Given the description of an element on the screen output the (x, y) to click on. 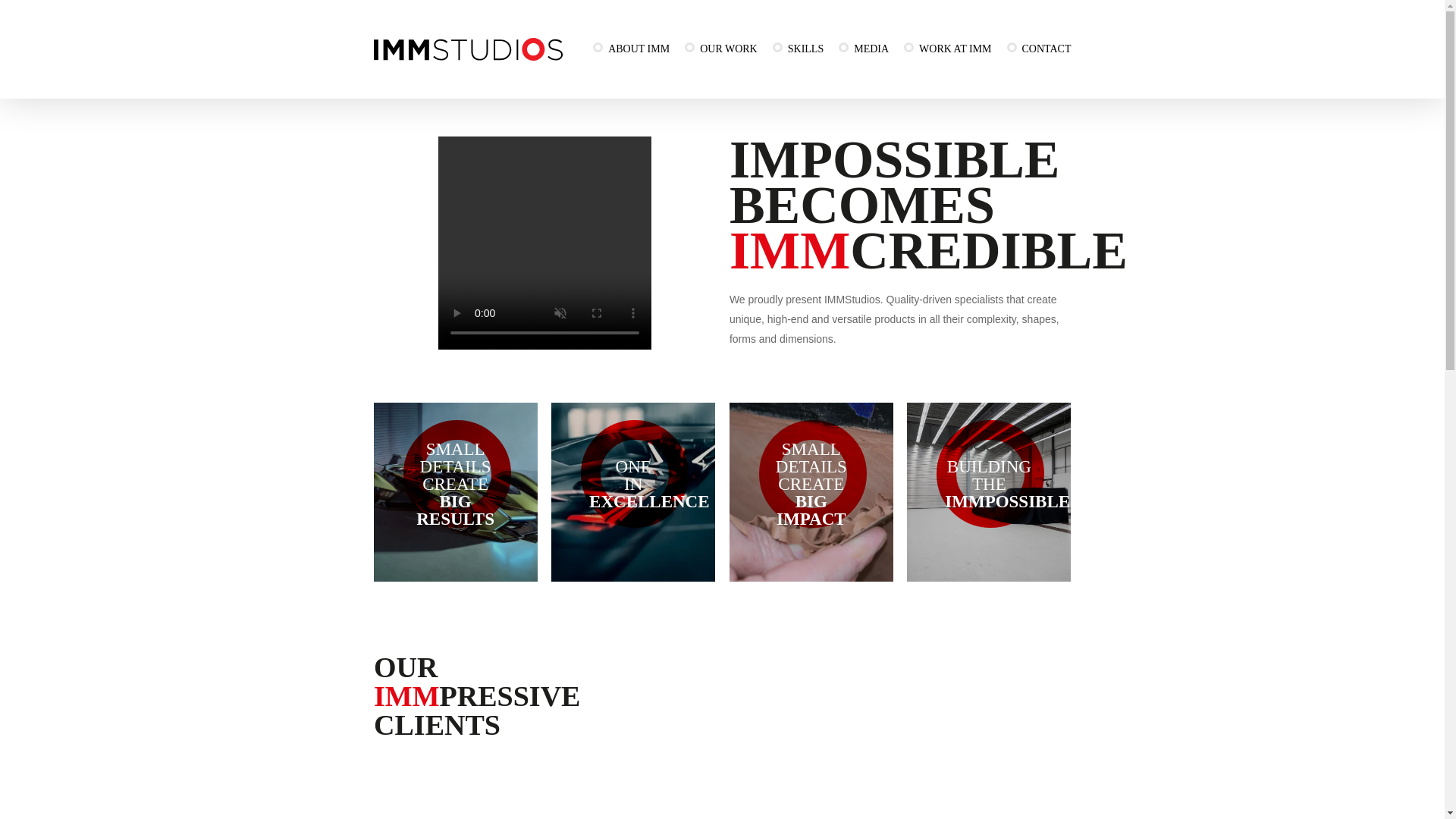
WORK AT IMM (947, 48)
MEDIA (863, 48)
CONTACT (1034, 48)
ABOUT IMM (631, 48)
SKILLS (798, 48)
OUR WORK (721, 48)
